Given the description of an element on the screen output the (x, y) to click on. 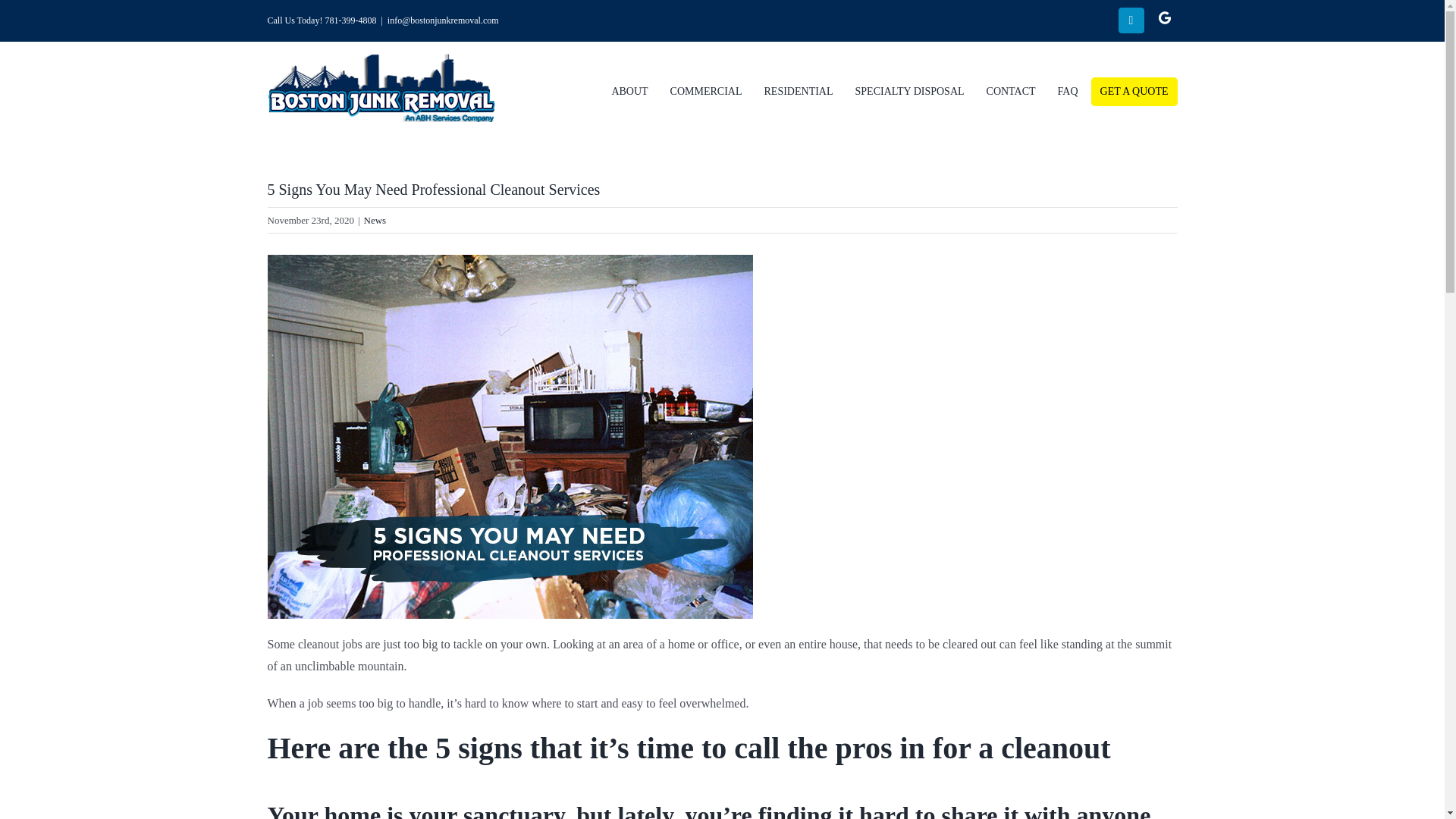
News (375, 220)
Facebook (1131, 20)
ABOUT (629, 91)
SPECIALTY DISPOSAL (909, 91)
FAQ (1067, 91)
Google (1164, 17)
COMMERCIAL (706, 91)
RESIDENTIAL (799, 91)
GET A QUOTE (1133, 91)
CONTACT (1010, 91)
